Given the description of an element on the screen output the (x, y) to click on. 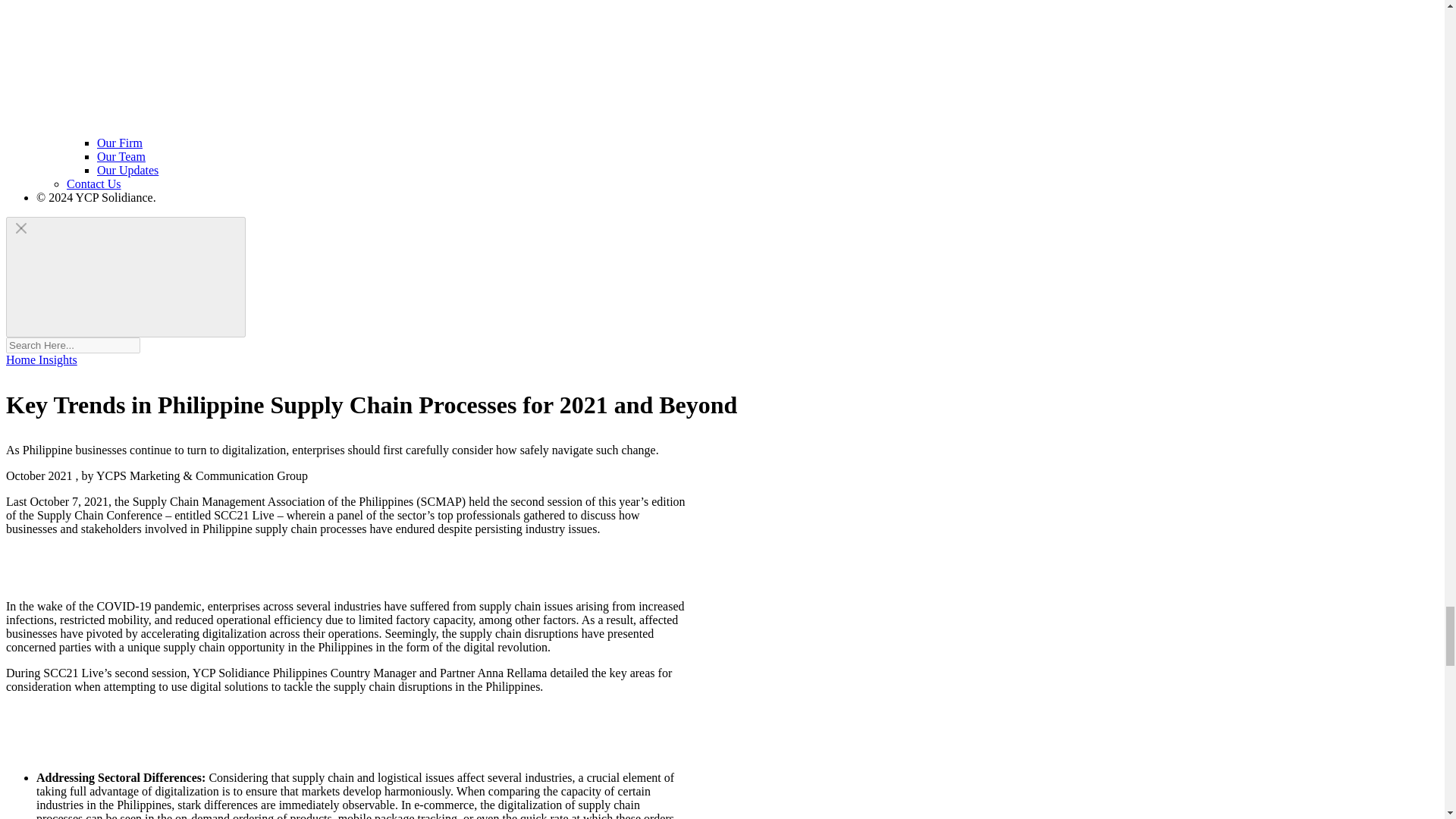
Our Firm (119, 142)
Our Updates (127, 169)
Contact Us (93, 183)
Home (22, 359)
Our Team (121, 155)
